Given the description of an element on the screen output the (x, y) to click on. 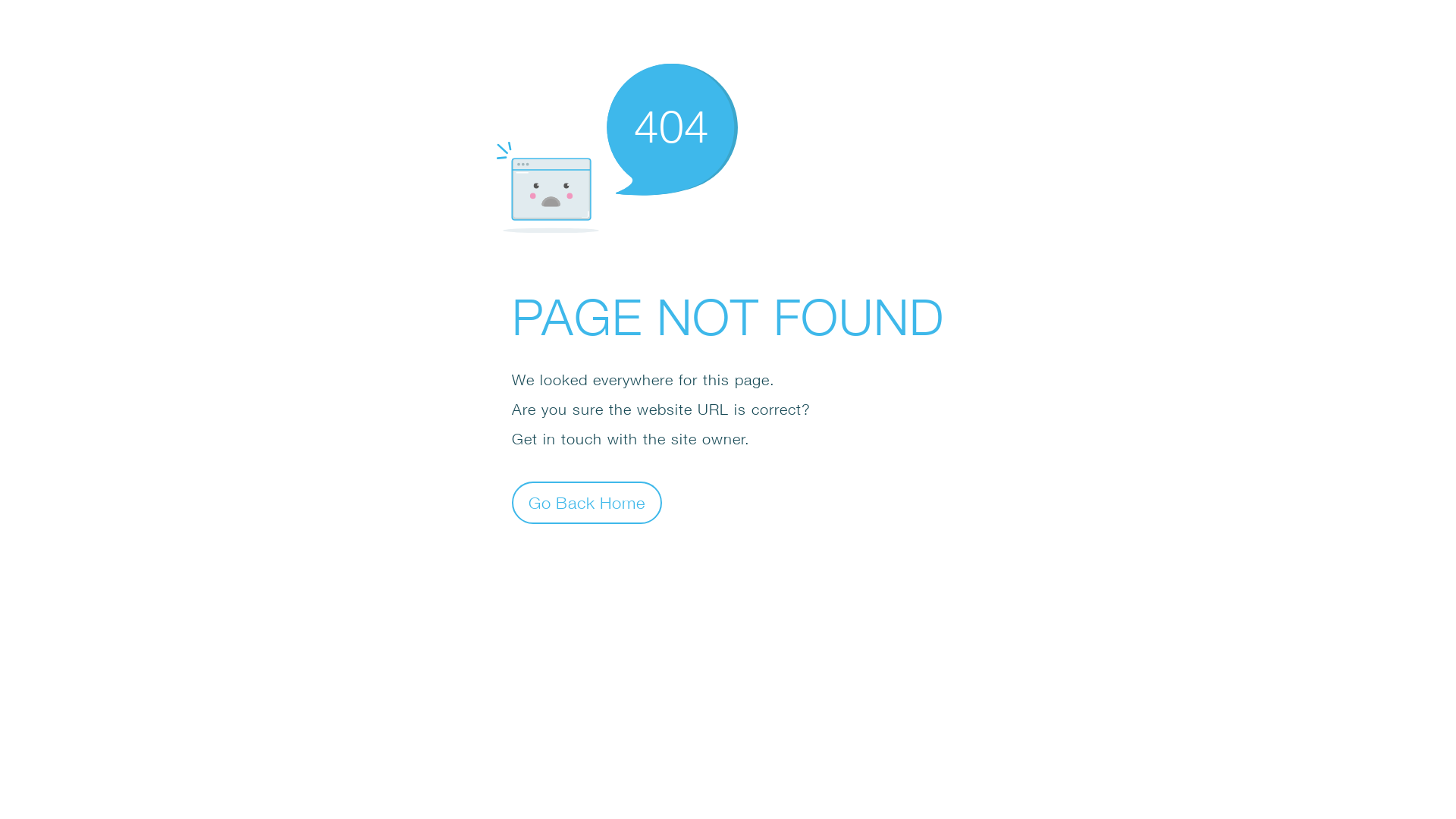
Go Back Home Element type: text (586, 502)
